Given the description of an element on the screen output the (x, y) to click on. 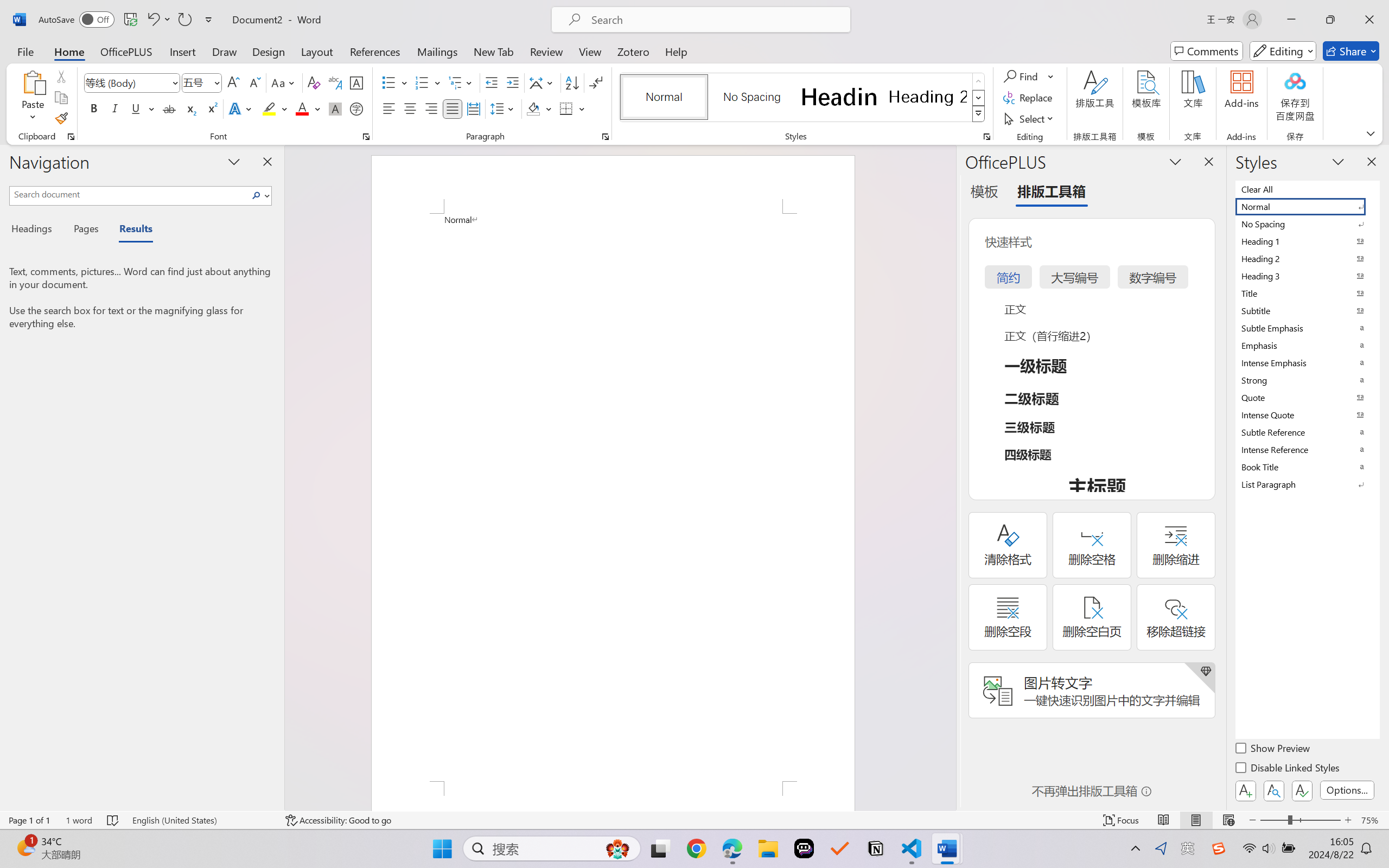
Format Painter (60, 118)
Language English (United States) (201, 819)
Save (130, 19)
Shrink Font (253, 82)
Book Title (1306, 466)
Accessibility Checker Accessibility: Good to go (338, 819)
Strikethrough (169, 108)
Multilevel List (461, 82)
View (589, 51)
